Given the description of an element on the screen output the (x, y) to click on. 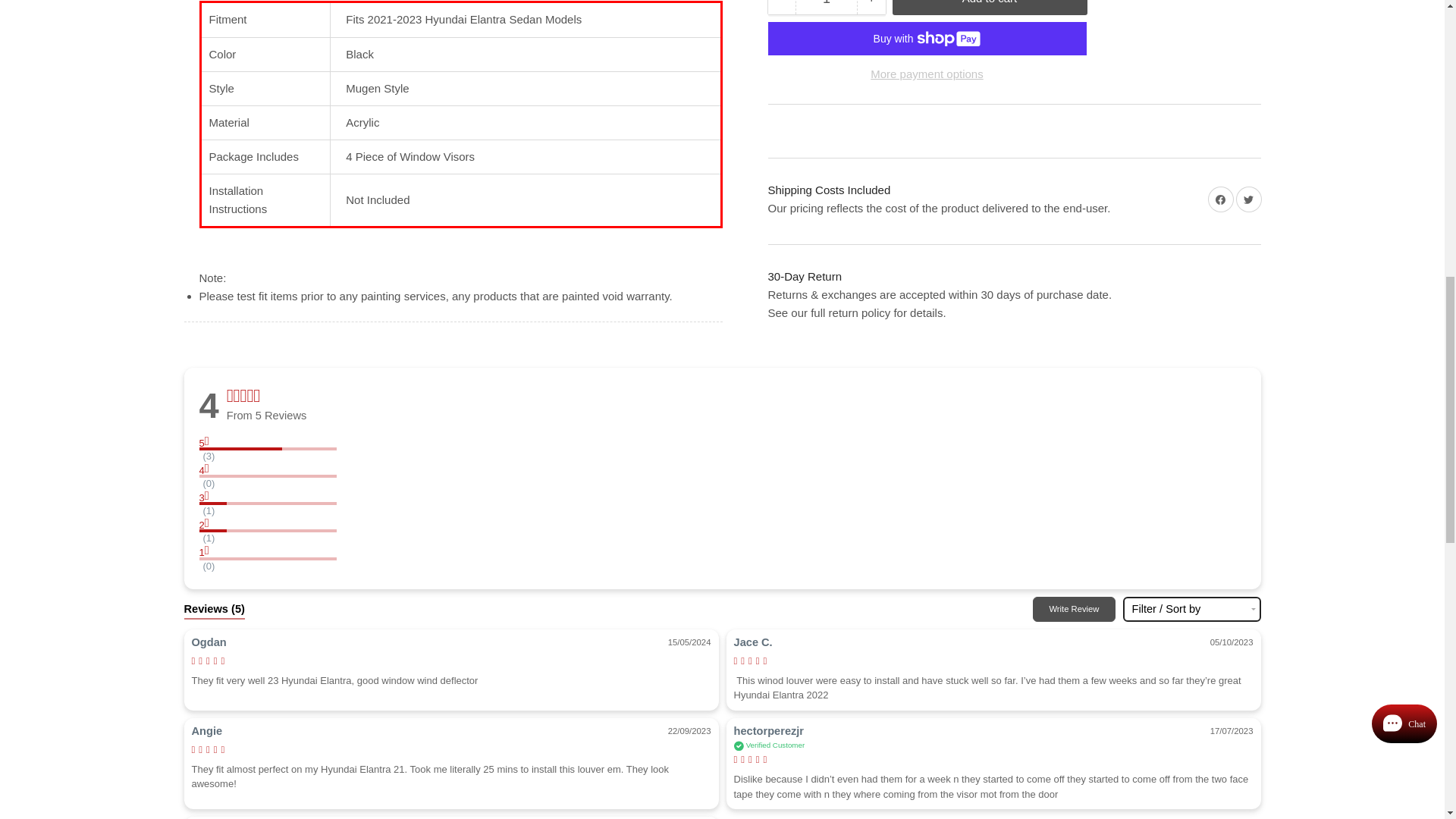
helpdesk-channel-iframe (1295, 155)
